Given the description of an element on the screen output the (x, y) to click on. 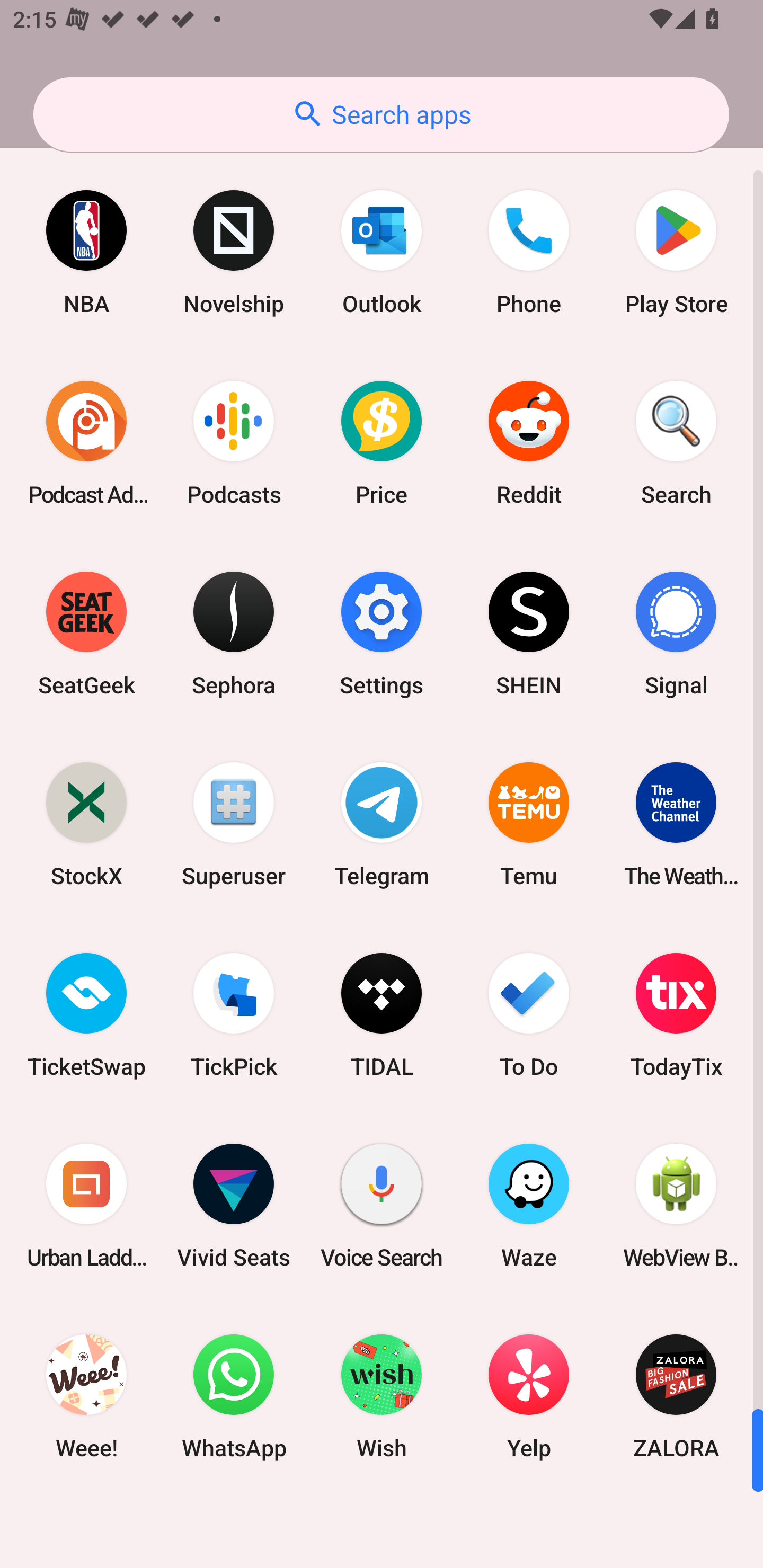
Signal (676, 633)
